Given the description of an element on the screen output the (x, y) to click on. 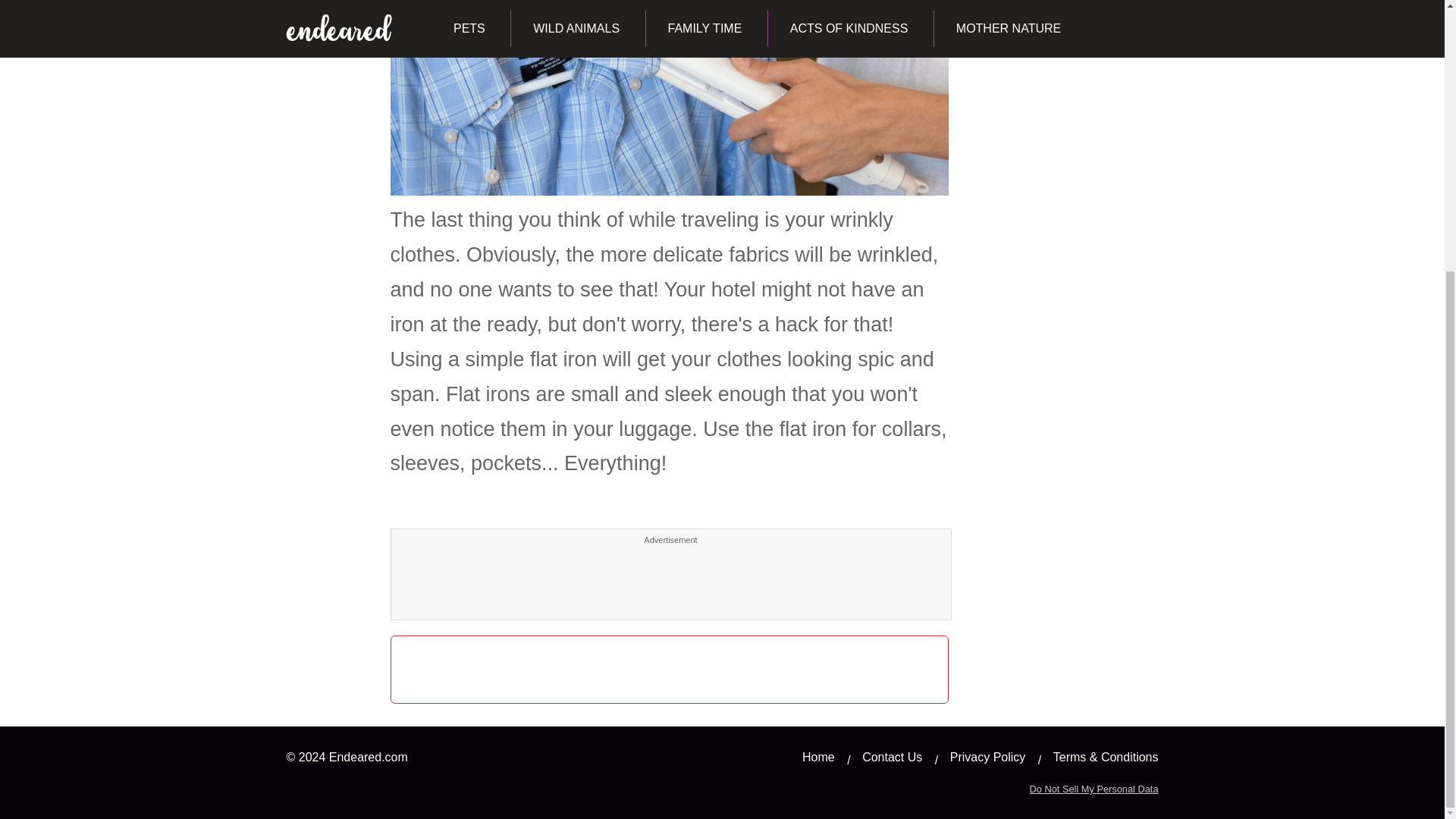
Home (818, 757)
Privacy Policy (988, 757)
Contact Us (891, 757)
Do Not Sell My Personal Data (1093, 788)
